Given the description of an element on the screen output the (x, y) to click on. 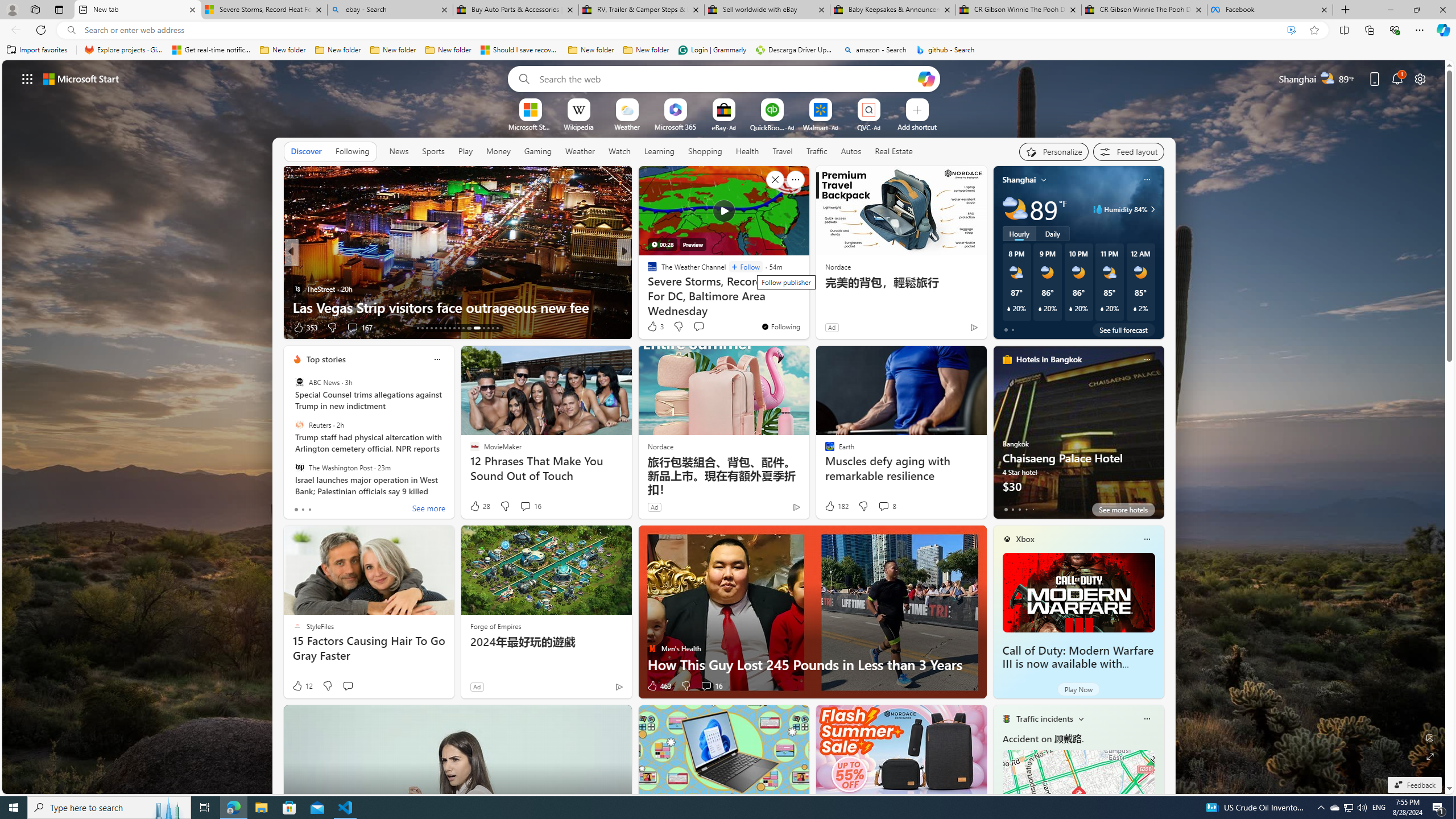
Facebook (1270, 9)
Traffic (816, 151)
AutomationID: tab-24 (467, 328)
3 Like (655, 326)
AutomationID: tab-18 (440, 328)
Autos (851, 151)
Partly cloudy (1014, 208)
Enhance video (1291, 29)
Watch (619, 151)
Class: weather-current-precipitation-glyph (1134, 308)
Play Now (1078, 689)
Microsoft Start Sports (529, 126)
